Given the description of an element on the screen output the (x, y) to click on. 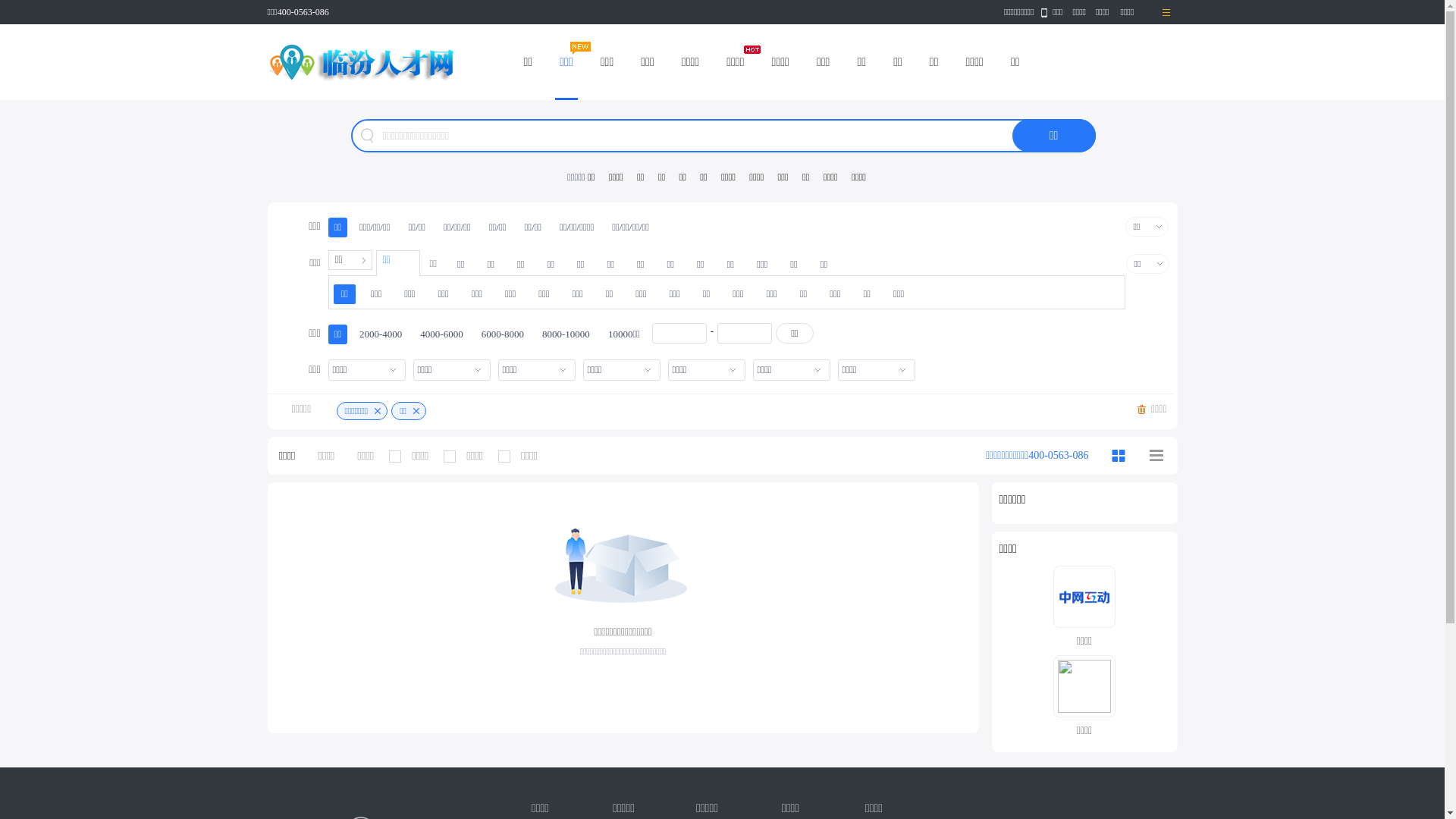
6000-8000 Element type: text (502, 334)
2000-4000 Element type: text (380, 334)
8000-10000 Element type: text (566, 334)
4000-6000 Element type: text (441, 334)
